Given the description of an element on the screen output the (x, y) to click on. 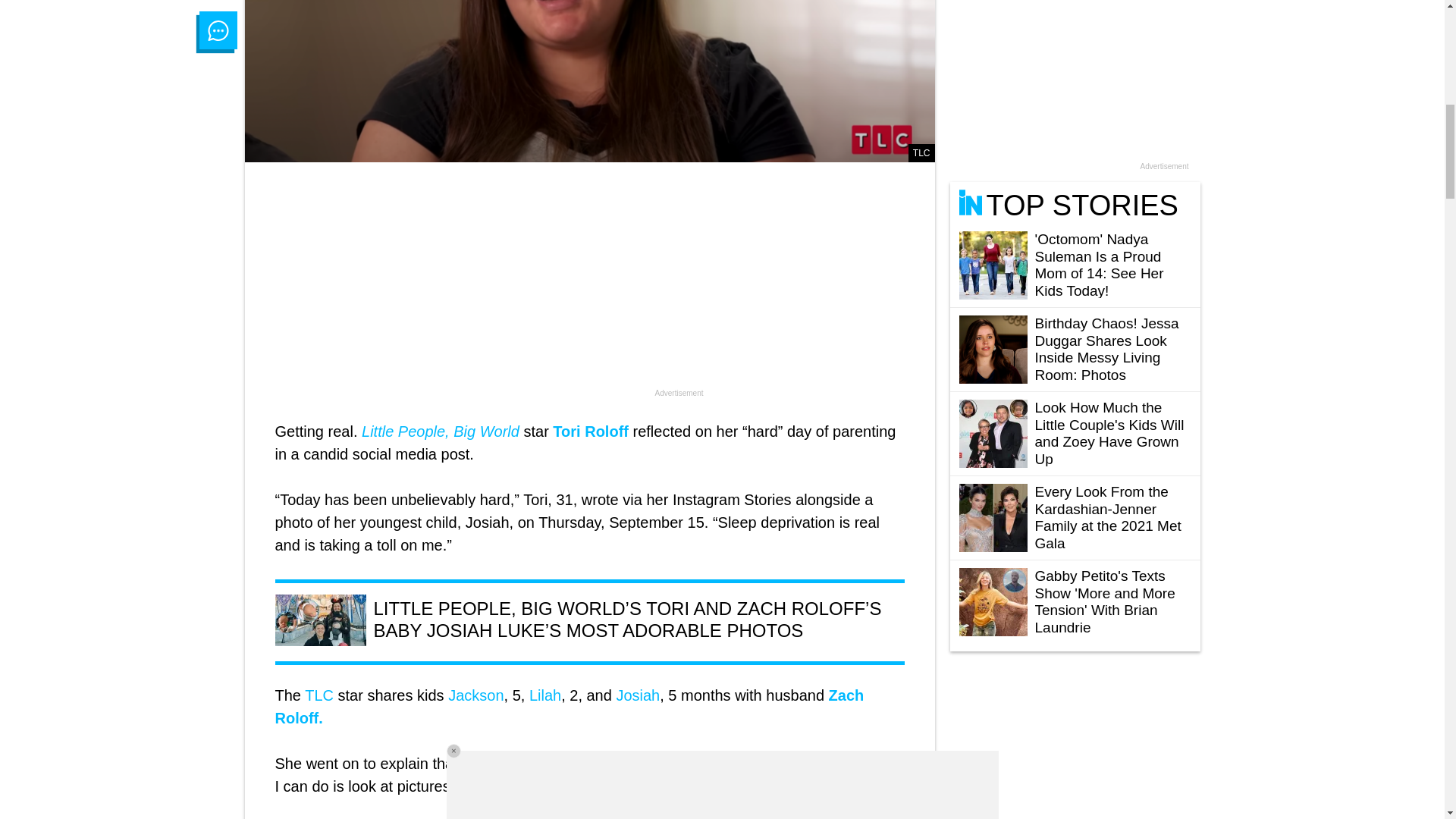
Google Ad - 4 (1062, 759)
Google Ad - 2 (589, 290)
Google Ad - 3 (1074, 79)
